Given the description of an element on the screen output the (x, y) to click on. 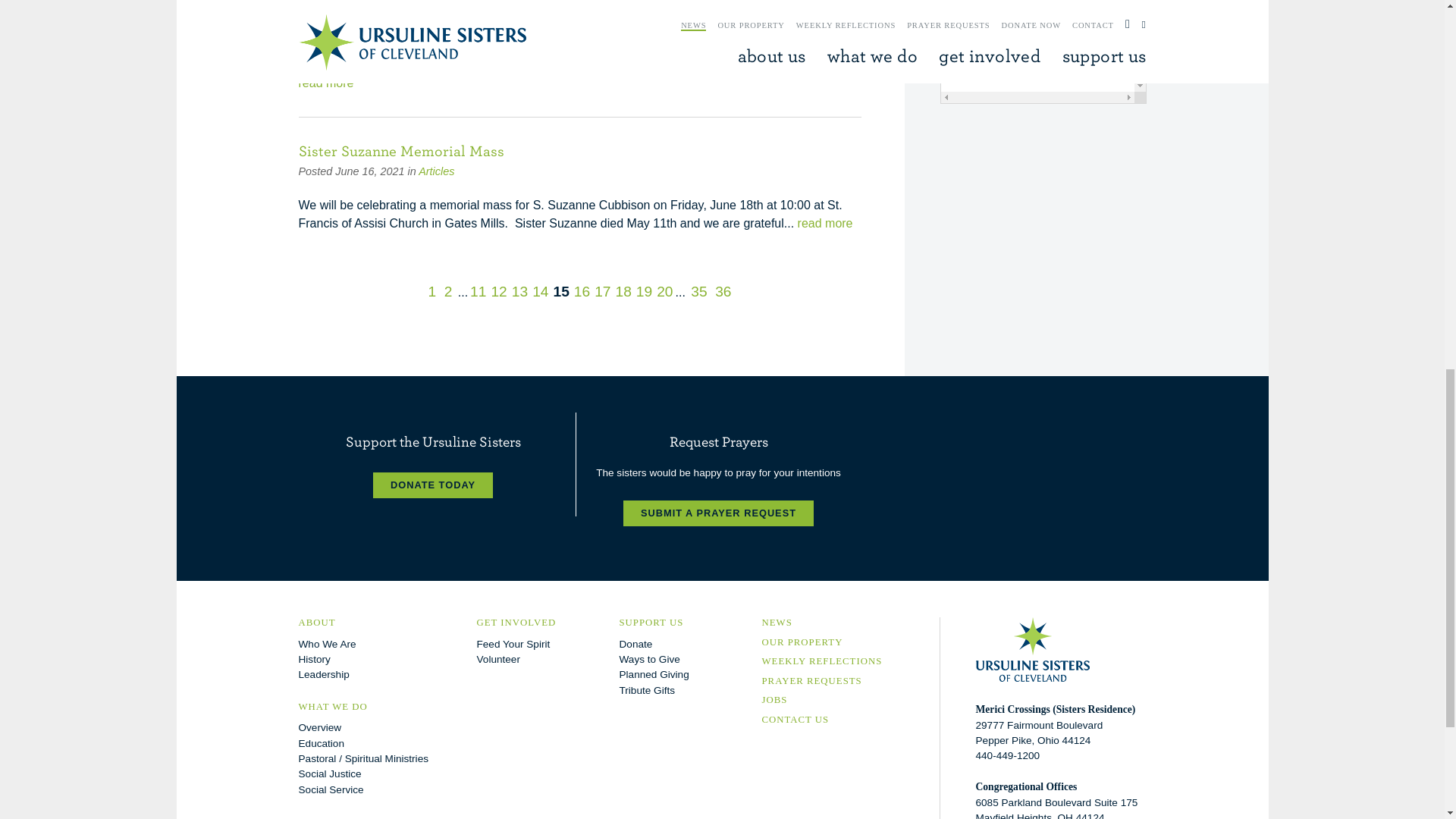
Ursuline Sisters News Spring 2021 (411, 27)
Articles (436, 171)
read more (325, 82)
Sister Suzanne Memorial Mass (400, 149)
